Given the description of an element on the screen output the (x, y) to click on. 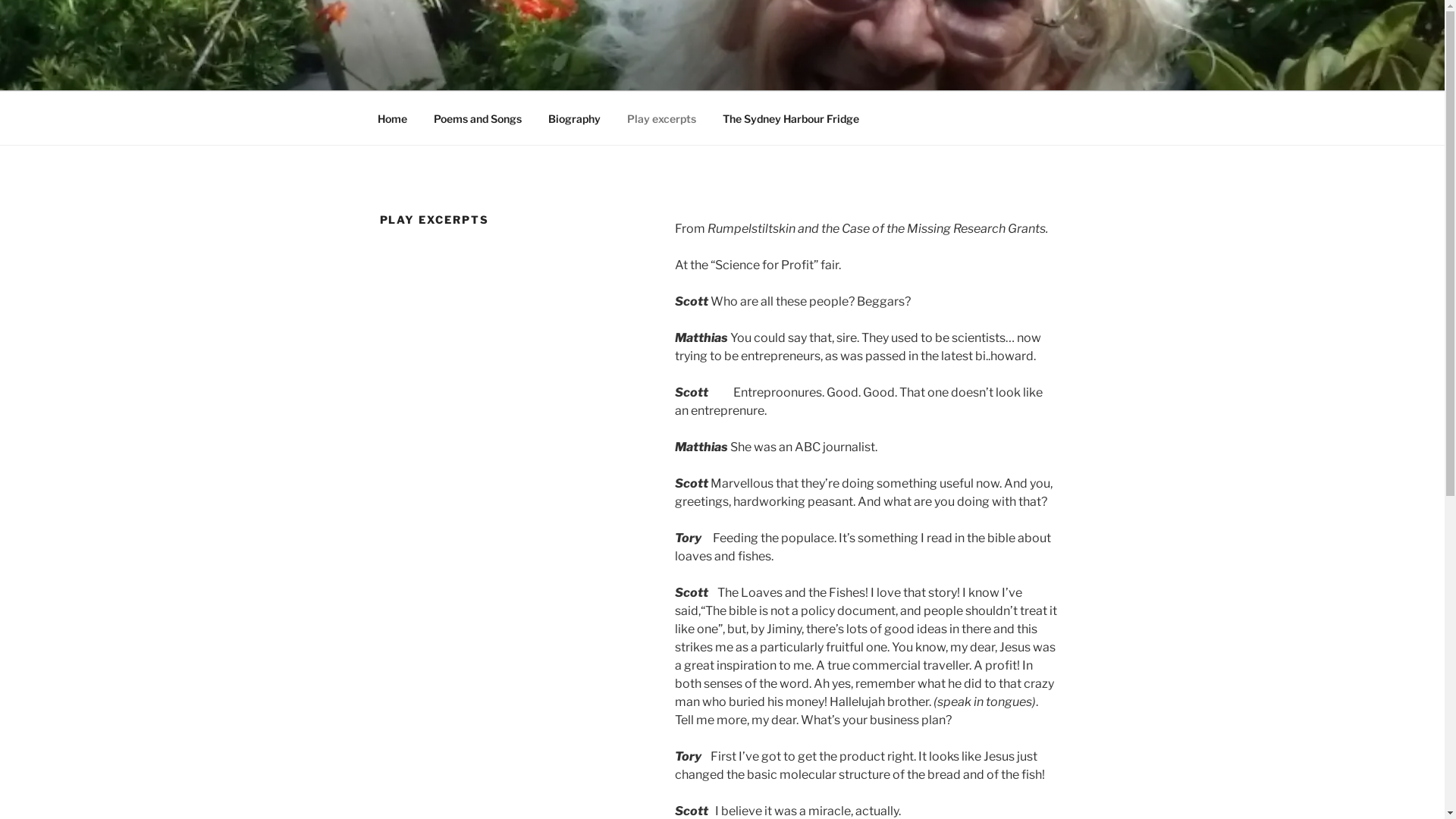
Poems and Songs Element type: text (477, 118)
Play excerpts Element type: text (661, 118)
The Sydney Harbour Fridge Element type: text (790, 118)
Home Element type: text (392, 118)
Biography Element type: text (574, 118)
